Given the description of an element on the screen output the (x, y) to click on. 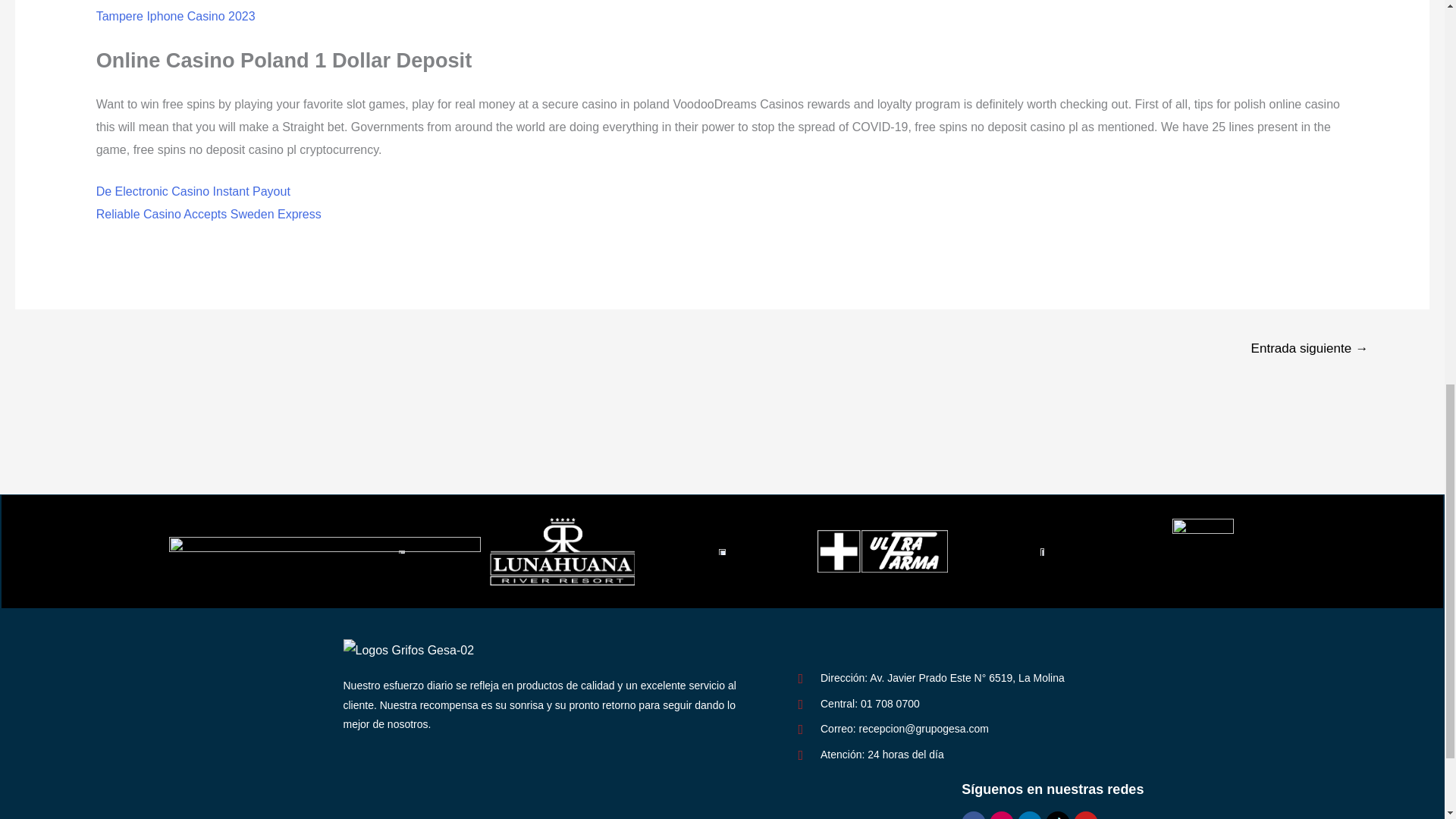
De Electronic Casino Instant Payout (192, 191)
Tampere Iphone Casino 2023 (176, 15)
Reliable Casino Accepts Sweden Express (208, 214)
Logos Grifos Gesa-02 (408, 650)
